Given the description of an element on the screen output the (x, y) to click on. 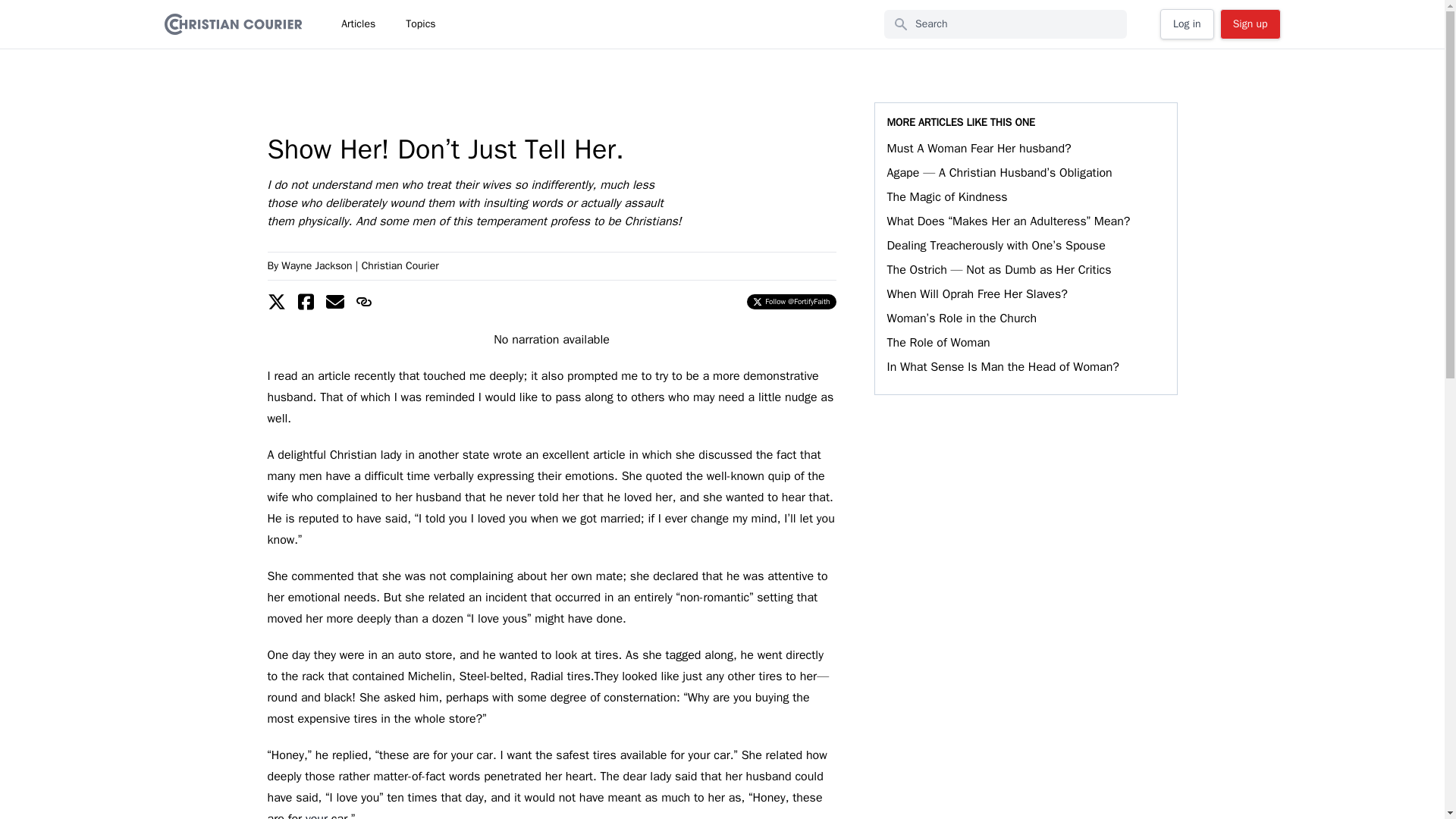
In What Sense Is Man the Head of Woman? (1002, 366)
Topics (420, 23)
Articles (357, 23)
The Magic of Kindness (946, 196)
Log in (1187, 24)
Sign up (1250, 24)
The Role of Woman (938, 342)
Must A Woman Fear Her husband? (978, 148)
Christian Courier (400, 265)
When Will Oprah Free Her Slaves? (976, 294)
